Given the description of an element on the screen output the (x, y) to click on. 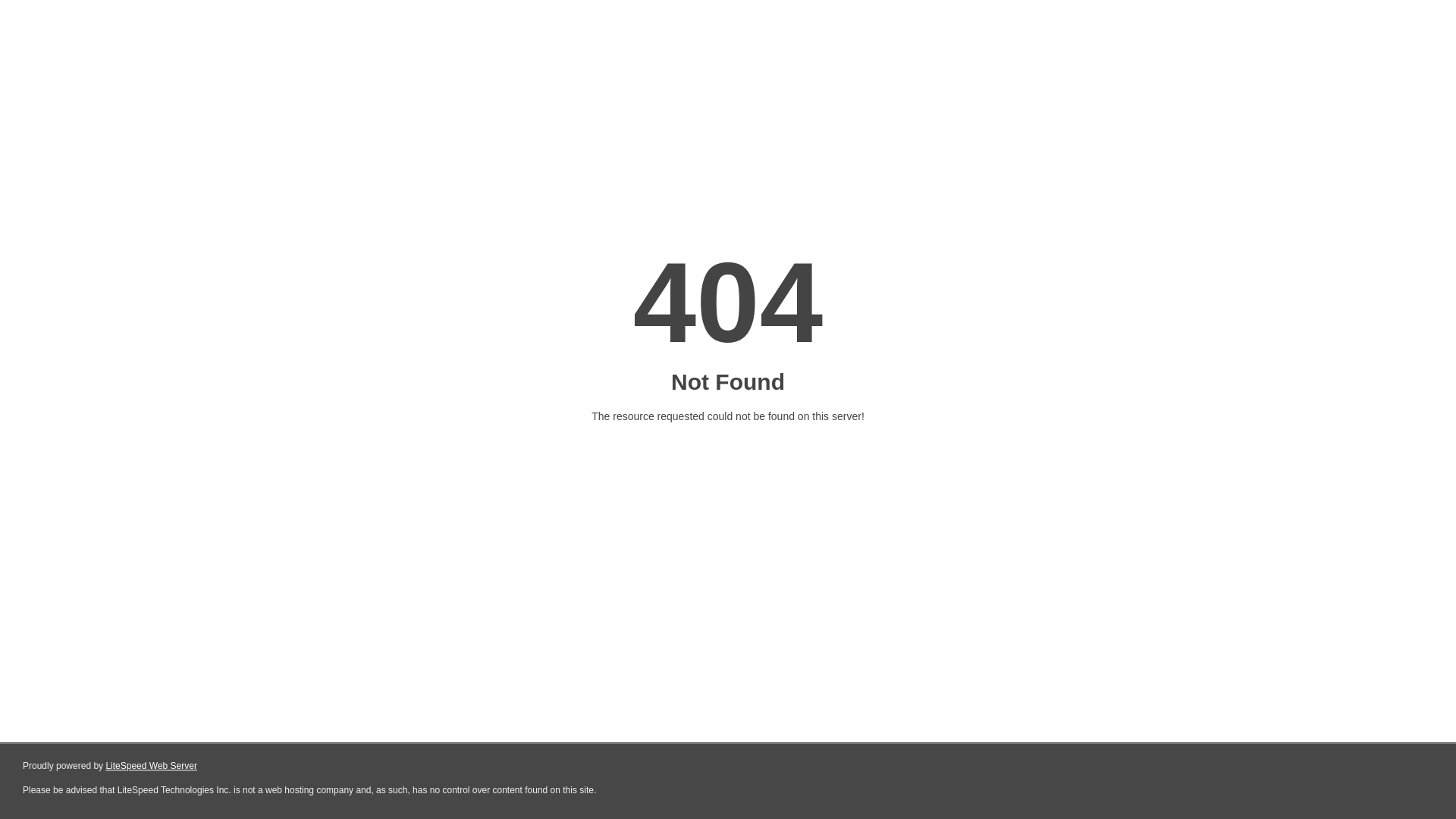
LiteSpeed Web Server Element type: text (151, 765)
